Given the description of an element on the screen output the (x, y) to click on. 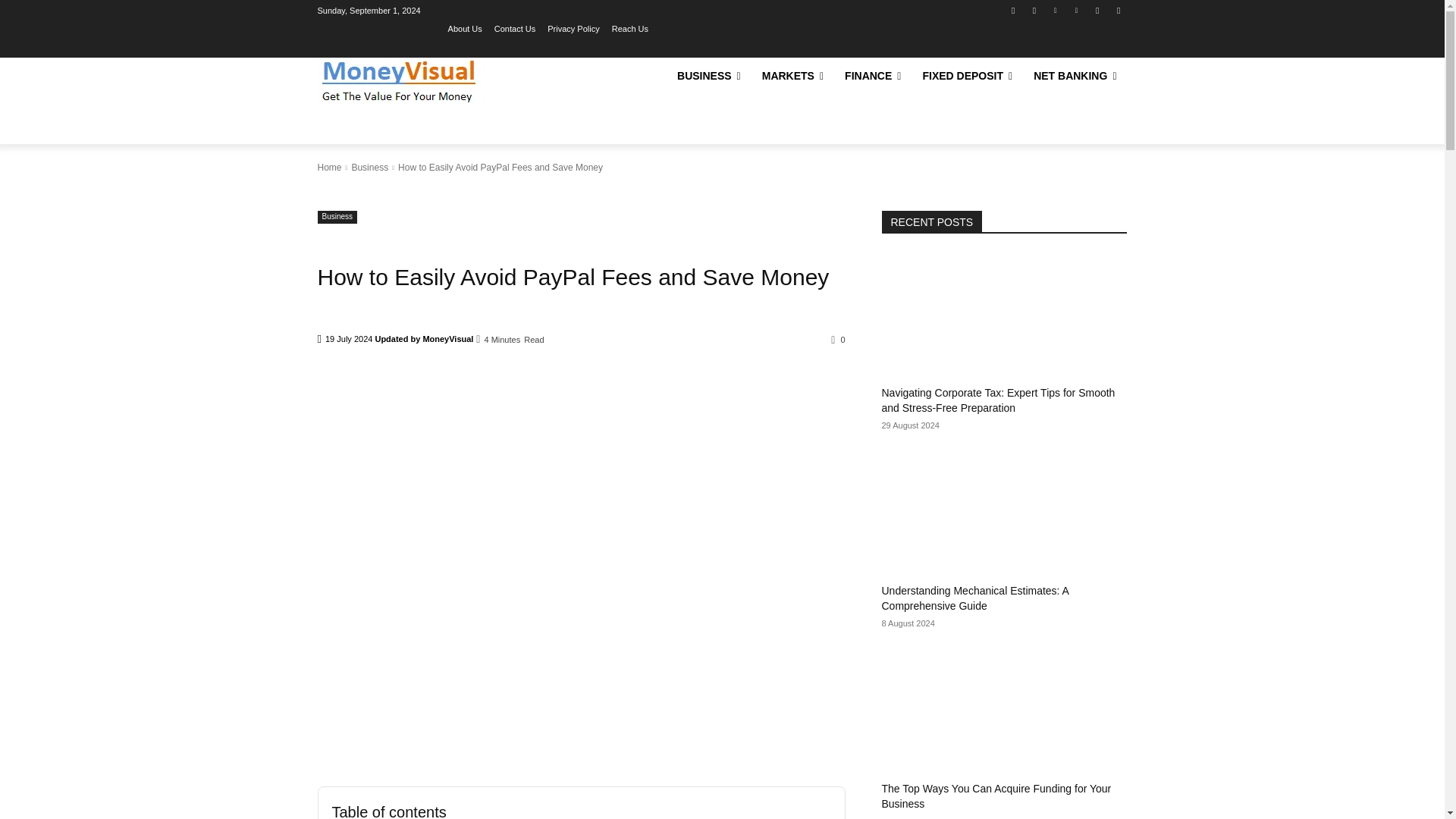
Pinterest (1075, 9)
Youtube (1117, 9)
Instagram (1034, 9)
Twitter (1097, 9)
View all posts in Business (369, 167)
Linkedin (1055, 9)
Facebook (1013, 9)
